Given the description of an element on the screen output the (x, y) to click on. 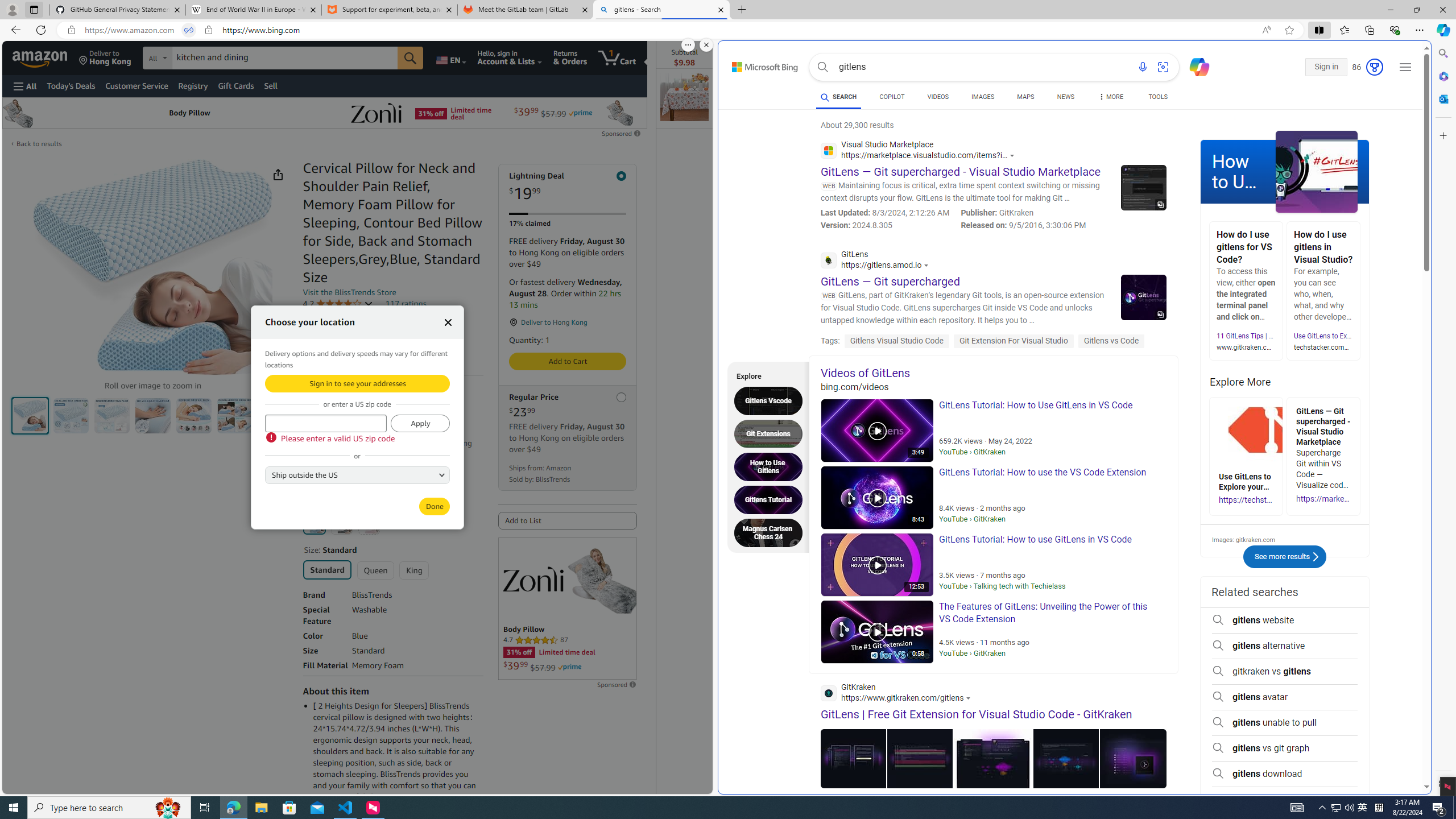
Sell (270, 85)
gitlens vs git graph (1283, 748)
Apply 20% coupon Shop items | Terms (353, 465)
Back to results (39, 143)
Chat (1195, 65)
Pink (369, 522)
Deliver to Hong Kong (105, 57)
4.2 4.2 out of 5 stars (337, 303)
Queen (374, 570)
Search in (199, 58)
